Given the description of an element on the screen output the (x, y) to click on. 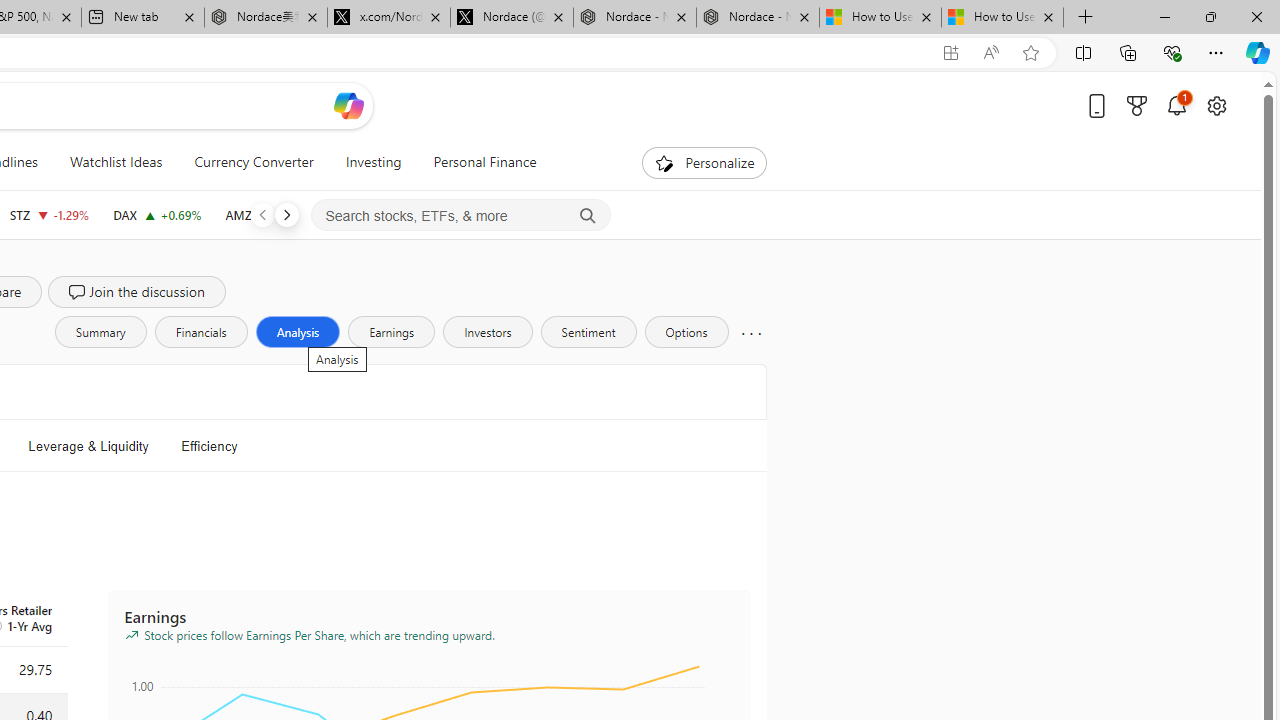
Watchlist Ideas (115, 162)
Notifications (1176, 105)
Personal Finance (477, 162)
How to Use a Monitor With Your Closed Laptop (1002, 17)
Microsoft rewards (1137, 105)
Nordace (@NordaceOfficial) / X (511, 17)
Class: text-DS-EntryPoint1-3 (274, 446)
Open Copilot (347, 105)
Earnings (392, 331)
Next (286, 214)
